Given the description of an element on the screen output the (x, y) to click on. 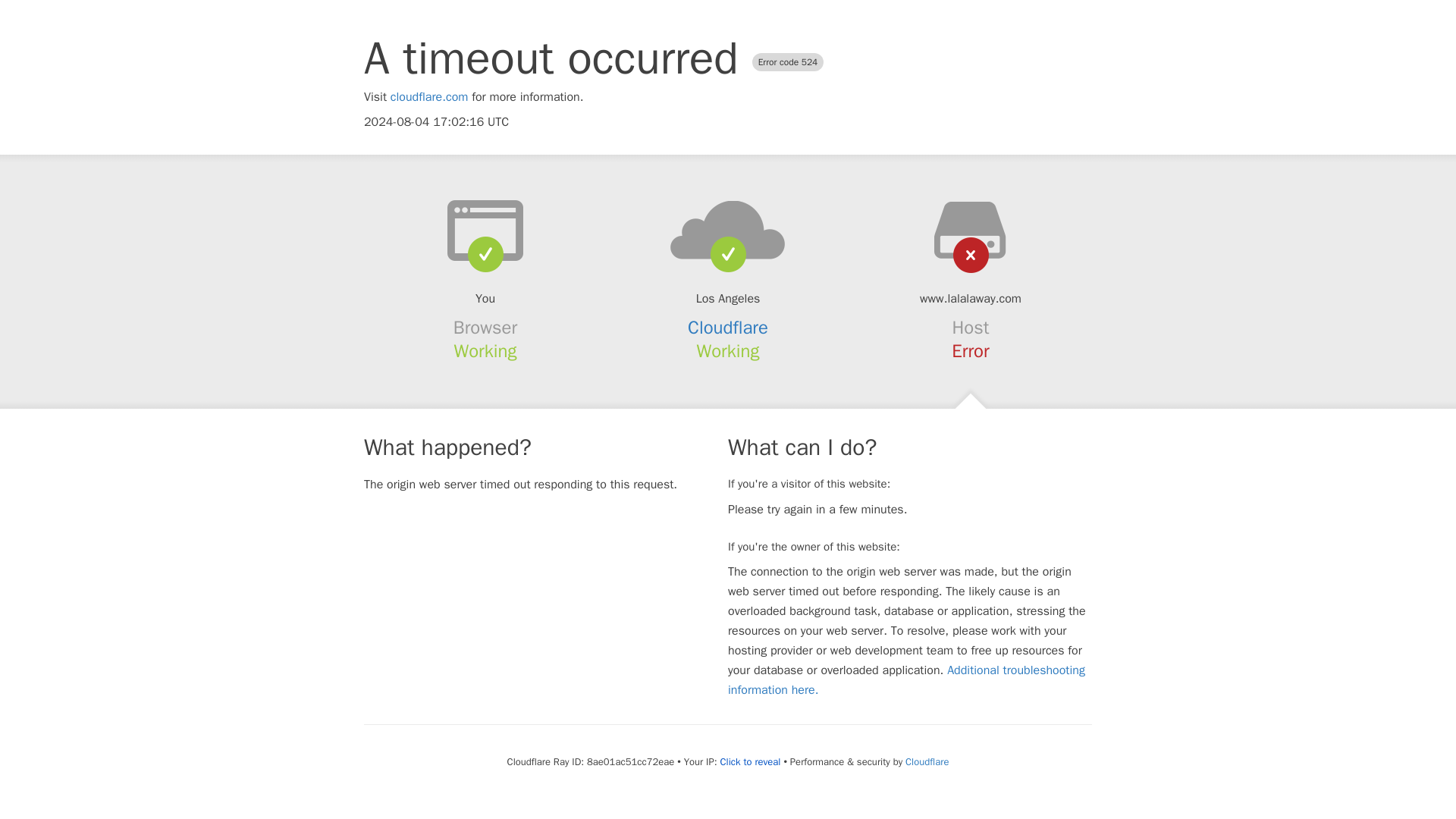
Click to reveal (750, 762)
Cloudflare (727, 327)
cloudflare.com (429, 96)
Cloudflare (927, 761)
Additional troubleshooting information here. (906, 679)
